Given the description of an element on the screen output the (x, y) to click on. 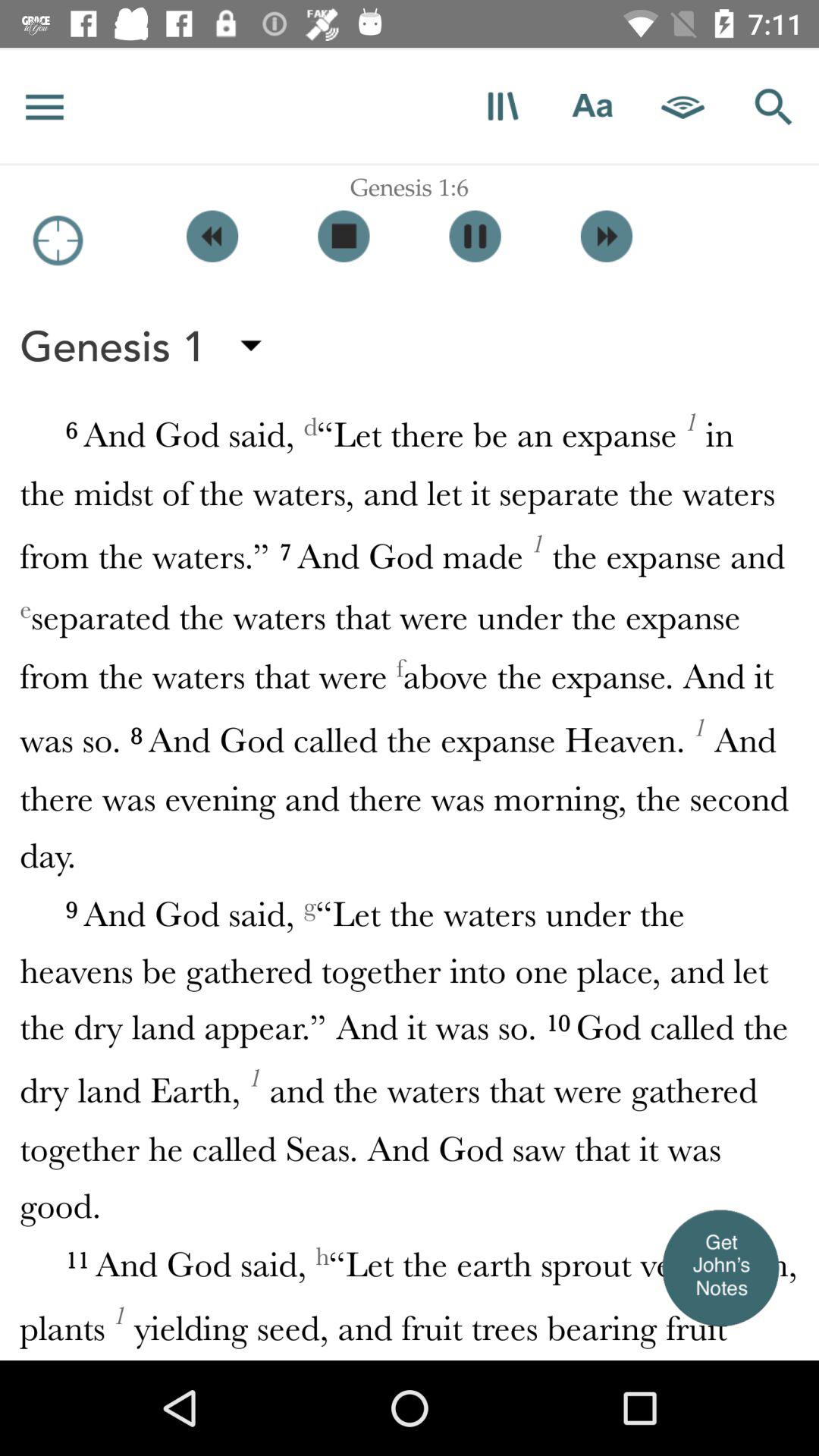
more options (45, 106)
